Given the description of an element on the screen output the (x, y) to click on. 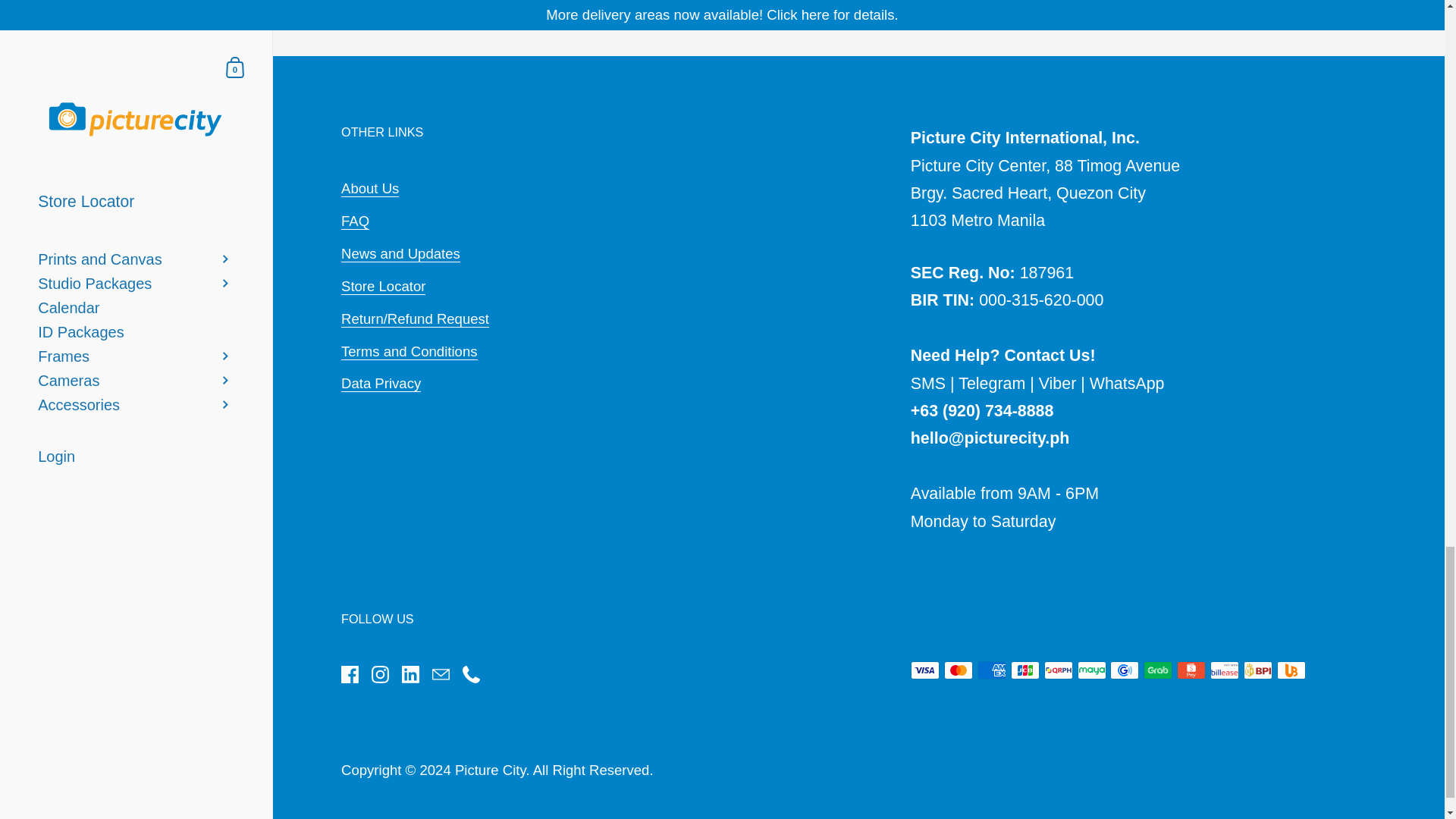
JCB (1024, 669)
American Express (991, 669)
Mastercard (957, 669)
Visa (925, 669)
QR Ph (1058, 669)
